Given the description of an element on the screen output the (x, y) to click on. 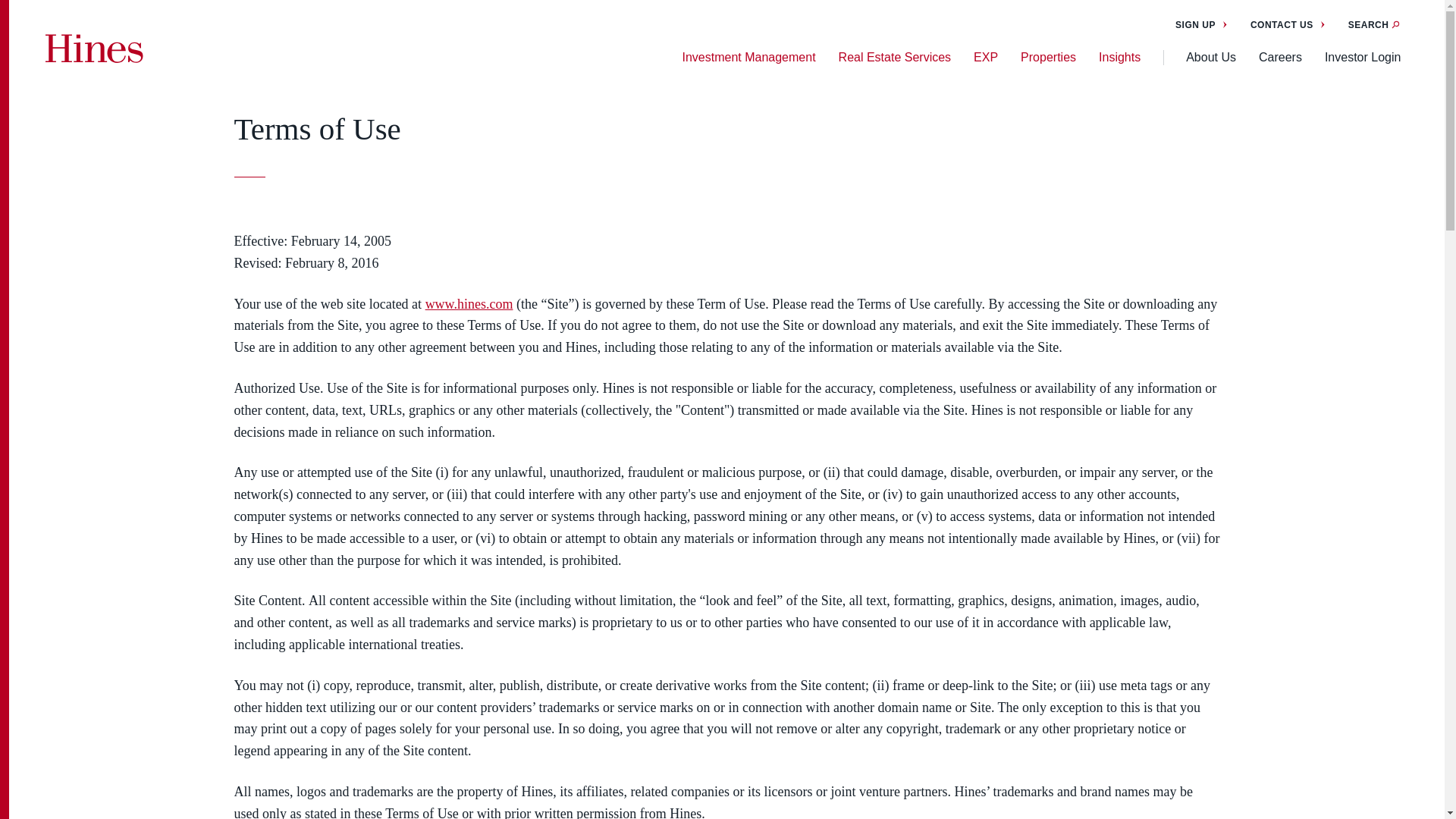
SEARCH (1374, 24)
SIGN UP (1200, 24)
Real Estate Services (895, 57)
Investment Management (748, 57)
About Us (1211, 57)
CONTACT US (1287, 24)
Insights (1119, 57)
Properties (1047, 57)
